Given the description of an element on the screen output the (x, y) to click on. 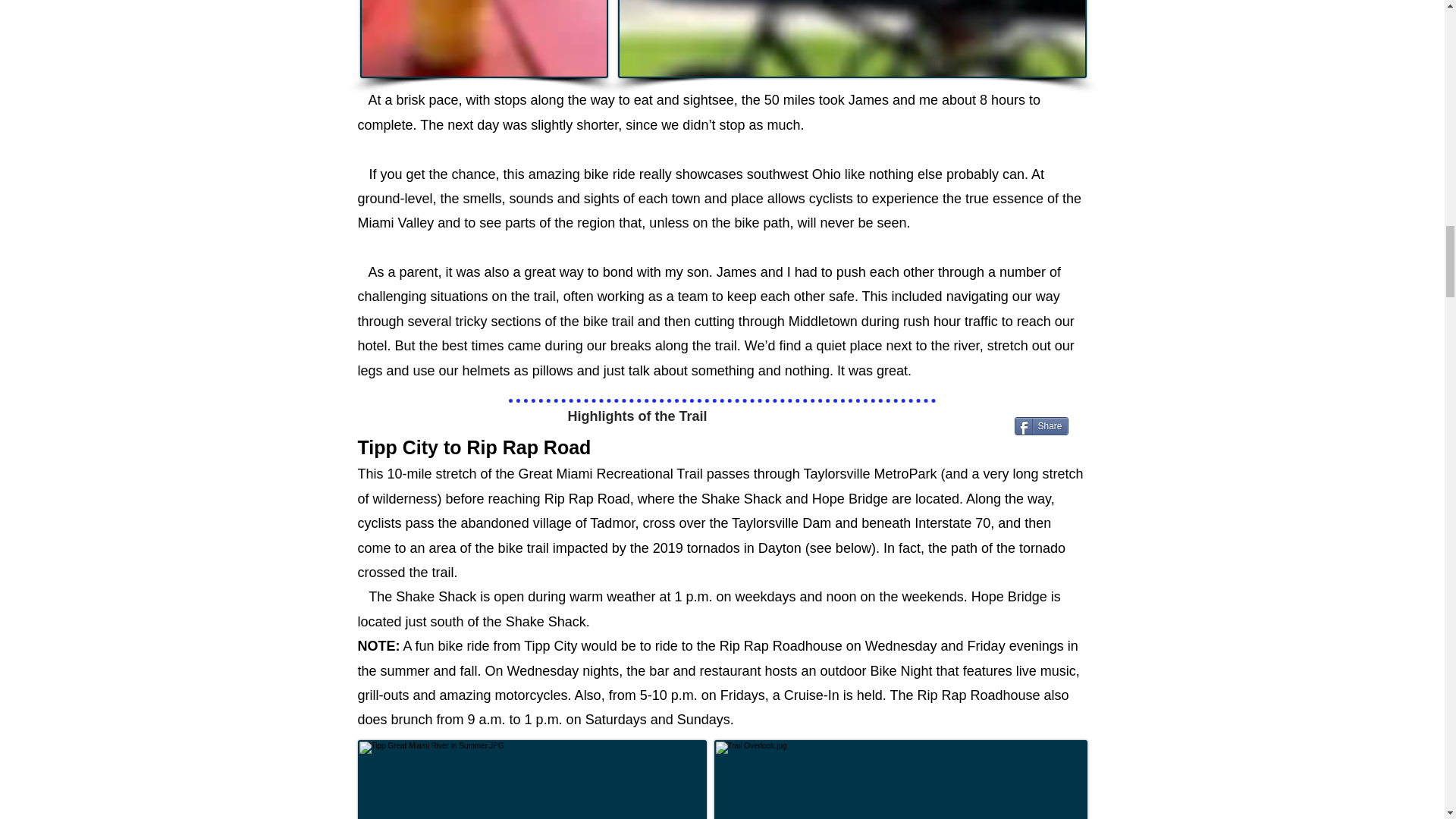
Share (1041, 425)
Share (1041, 425)
